Given the description of an element on the screen output the (x, y) to click on. 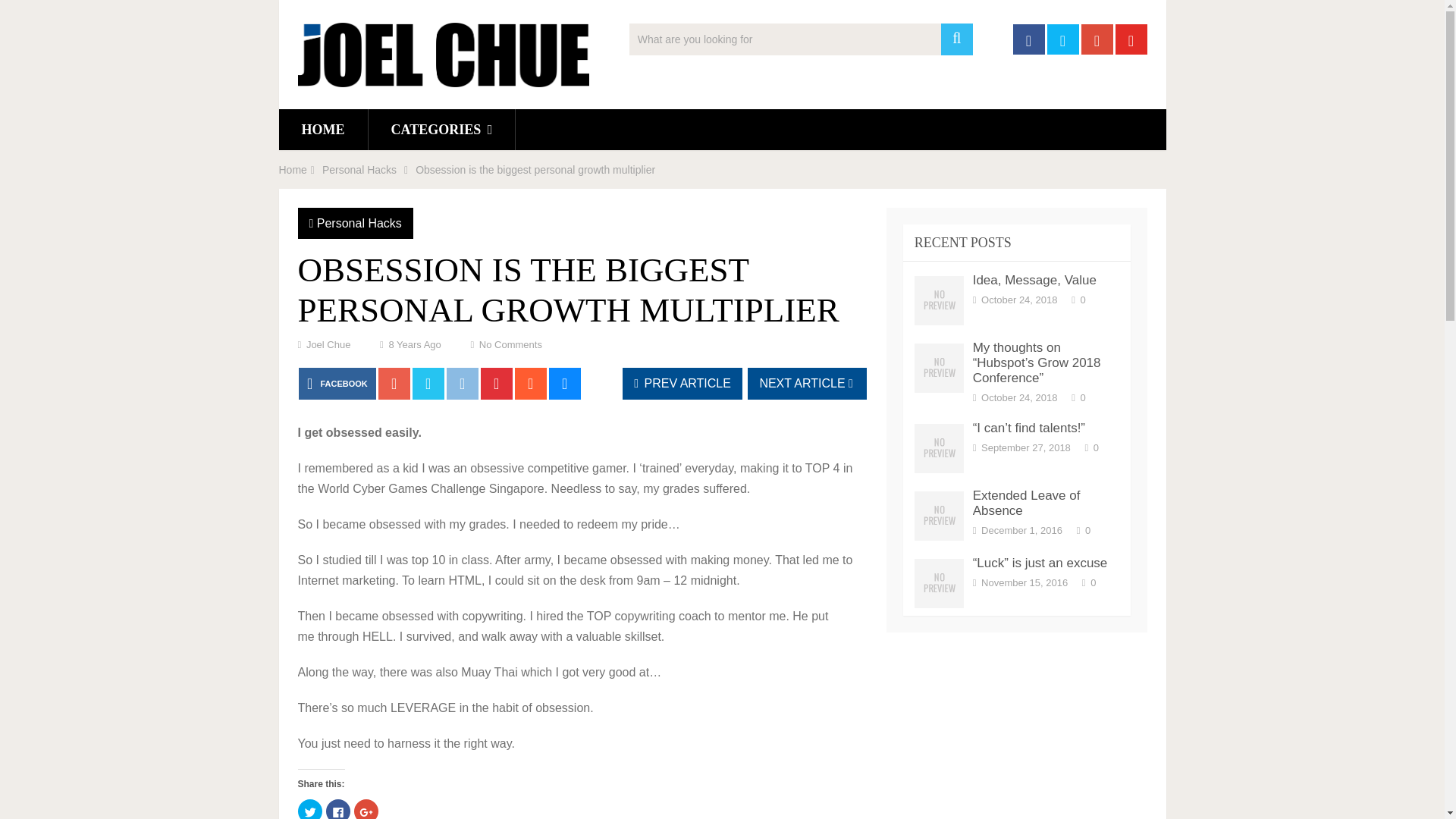
Joel Chue (327, 344)
Click to share on Facebook (338, 809)
Home (293, 169)
Personal Hacks (358, 169)
CATEGORIES (441, 128)
View all posts in Personal Hacks (359, 223)
PREV ARTICLE (682, 383)
No Comments (510, 344)
Posts by Joel Chue (327, 344)
Personal Hacks (359, 223)
NEXT ARTICLE (807, 383)
HOME (323, 128)
FACEBOOK (336, 383)
Click to share on Twitter (309, 809)
